Given the description of an element on the screen output the (x, y) to click on. 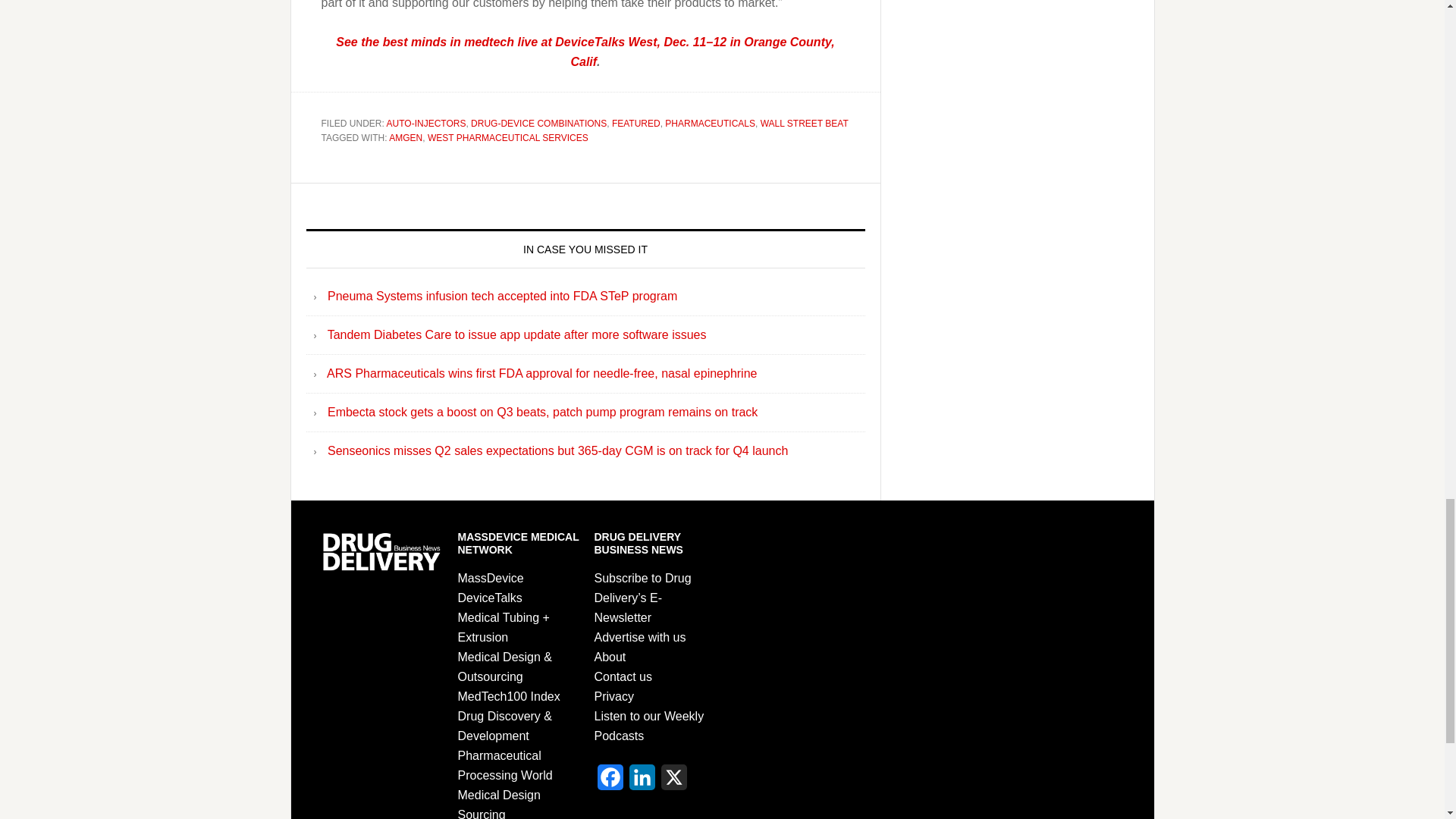
AMGEN (405, 137)
LinkedIn Company (642, 781)
WALL STREET BEAT (804, 122)
DRUG-DEVICE COMBINATIONS (538, 122)
AUTO-INJECTORS (426, 122)
Facebook (610, 781)
FEATURED (636, 122)
WEST PHARMACEUTICAL SERVICES (508, 137)
Pneuma Systems infusion tech accepted into FDA STeP program (502, 295)
